Given the description of an element on the screen output the (x, y) to click on. 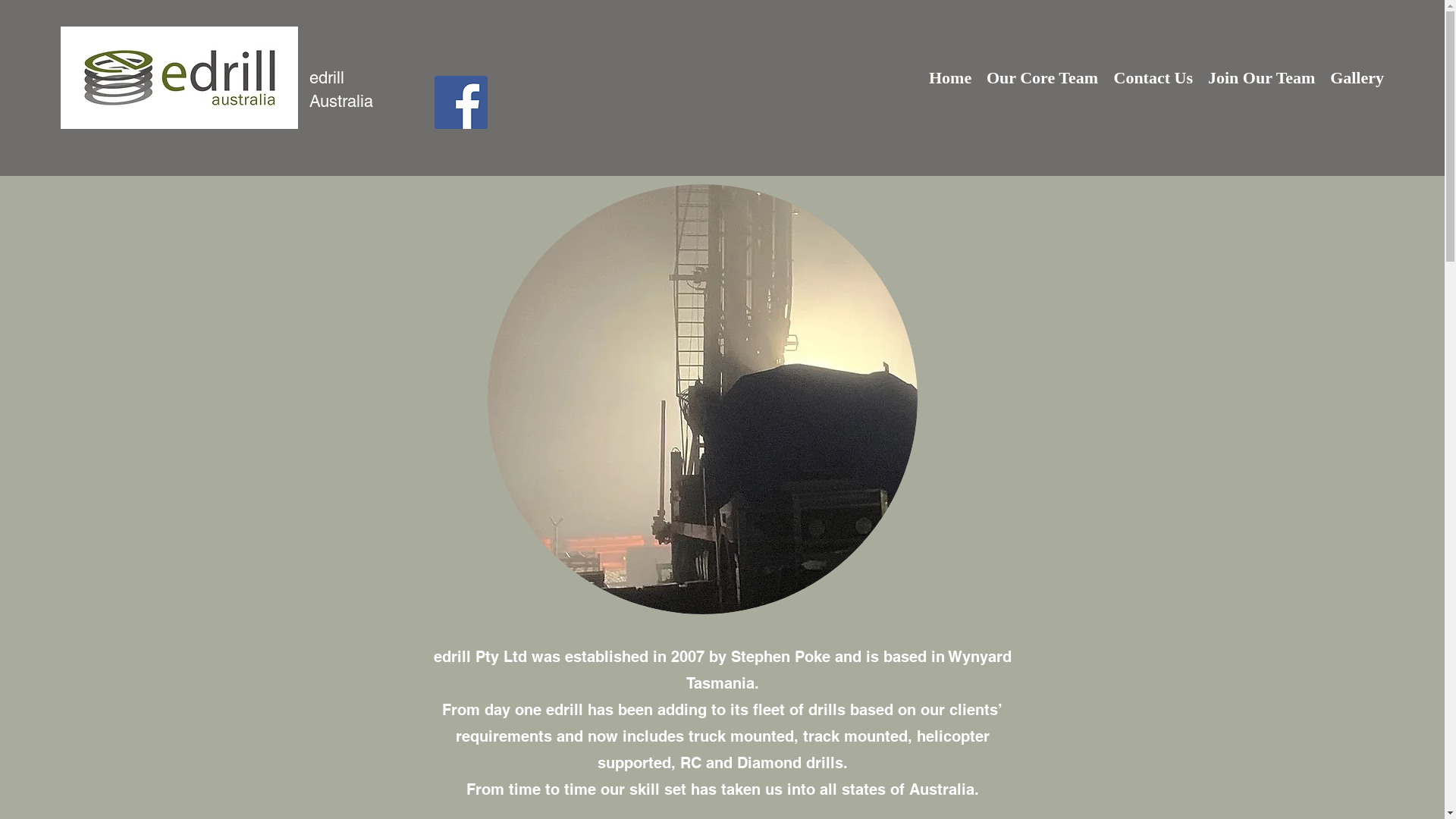
Gallery Element type: text (1356, 77)
Join Our Team Element type: text (1261, 77)
Our Core Team Element type: text (1042, 77)
Home Element type: text (950, 77)
Contact Us Element type: text (1152, 77)
edrill Australia Element type: text (341, 89)
